Given the description of an element on the screen output the (x, y) to click on. 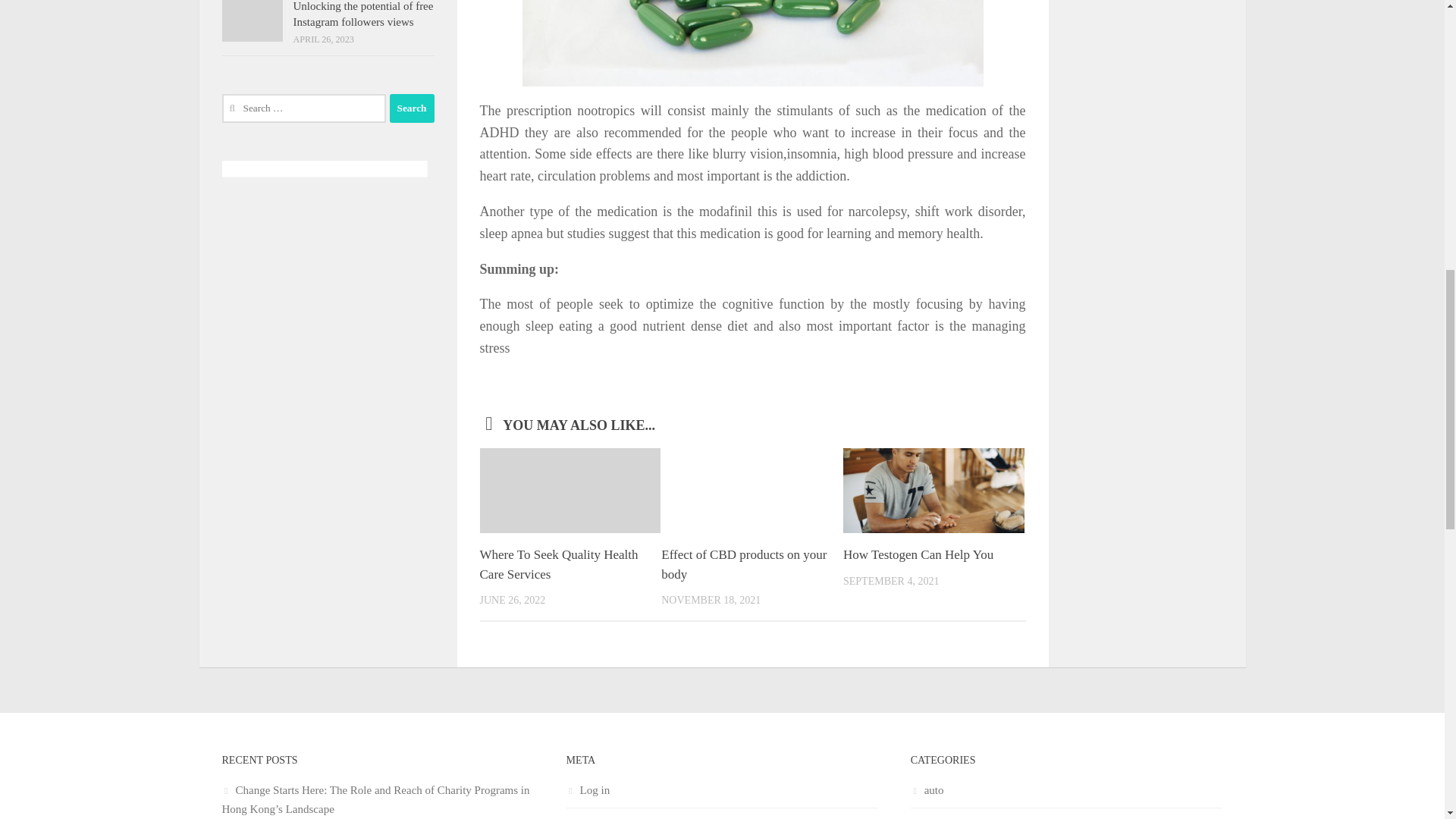
How Testogen Can Help You (917, 554)
Search (411, 108)
Effect of CBD products on your body (744, 564)
Search (411, 108)
Where To Seek Quality Health Care Services (558, 564)
